Given the description of an element on the screen output the (x, y) to click on. 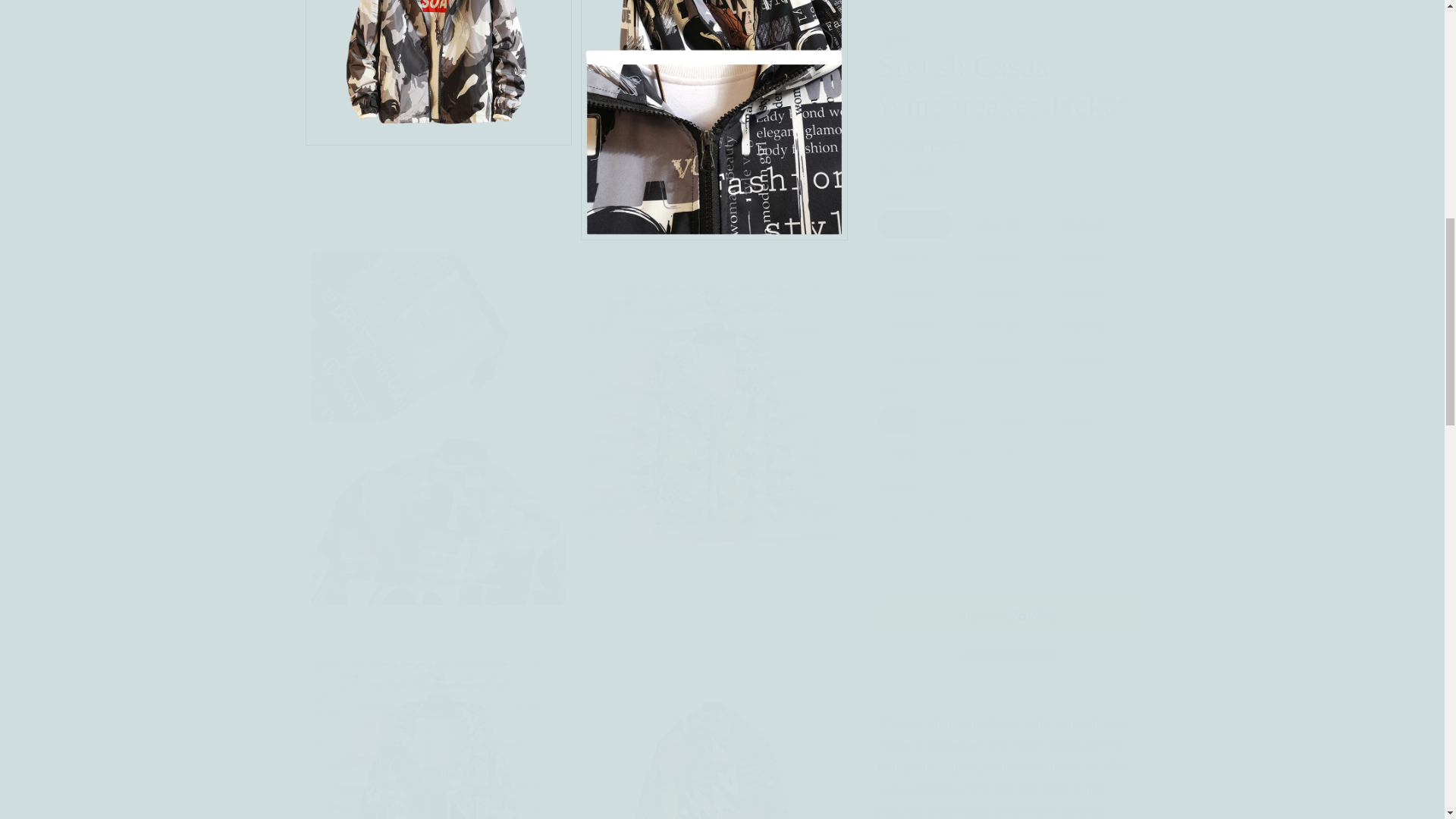
Open media 3 in modal (713, 112)
Open media 2 in modal (438, 112)
Open media 6 in modal (438, 722)
Open media 7 in modal (713, 722)
